Given the description of an element on the screen output the (x, y) to click on. 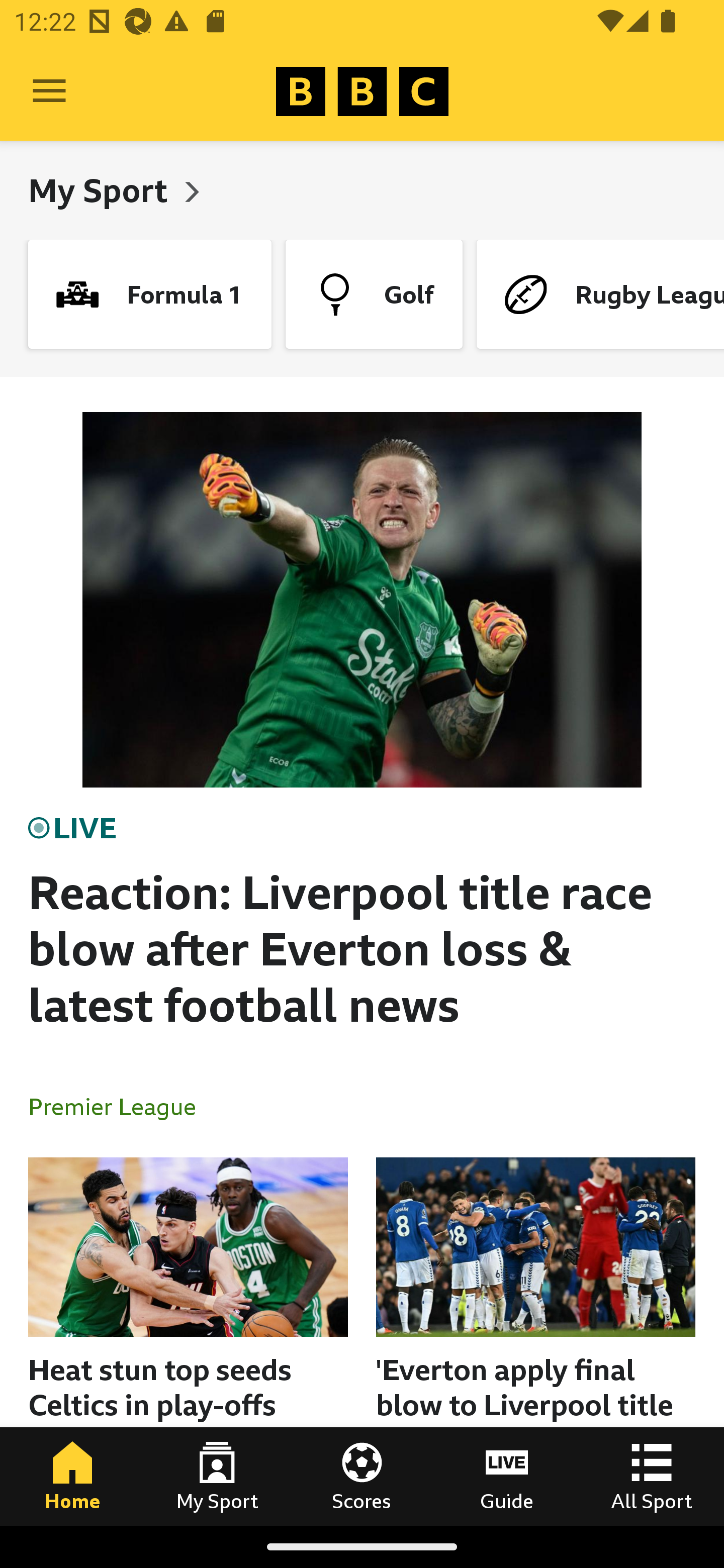
Open Menu (49, 91)
My Sport (101, 190)
Premier League In the section Premier League (119, 1106)
My Sport (216, 1475)
Scores (361, 1475)
Guide (506, 1475)
All Sport (651, 1475)
